Given the description of an element on the screen output the (x, y) to click on. 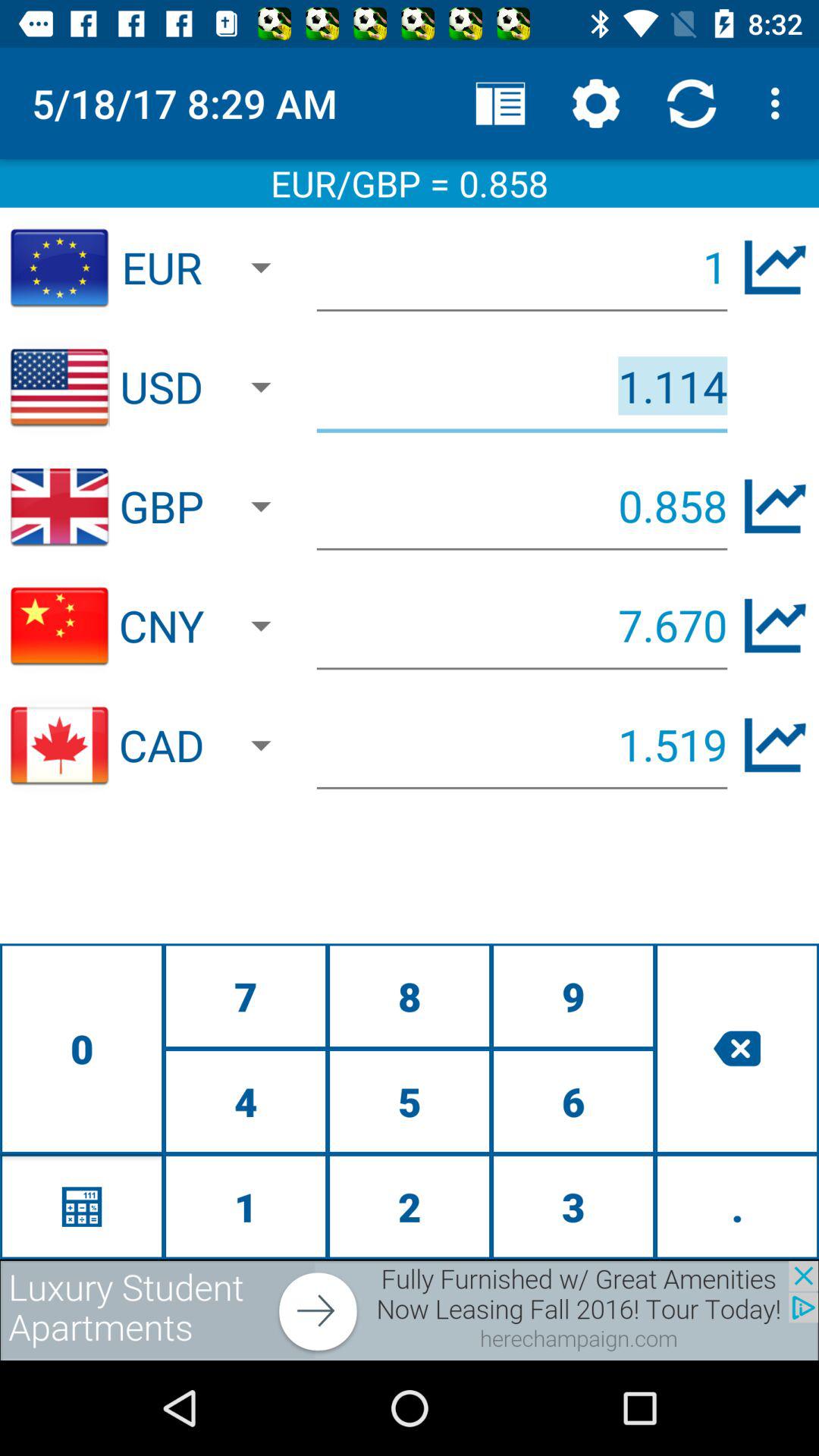
view chart (775, 625)
